Given the description of an element on the screen output the (x, y) to click on. 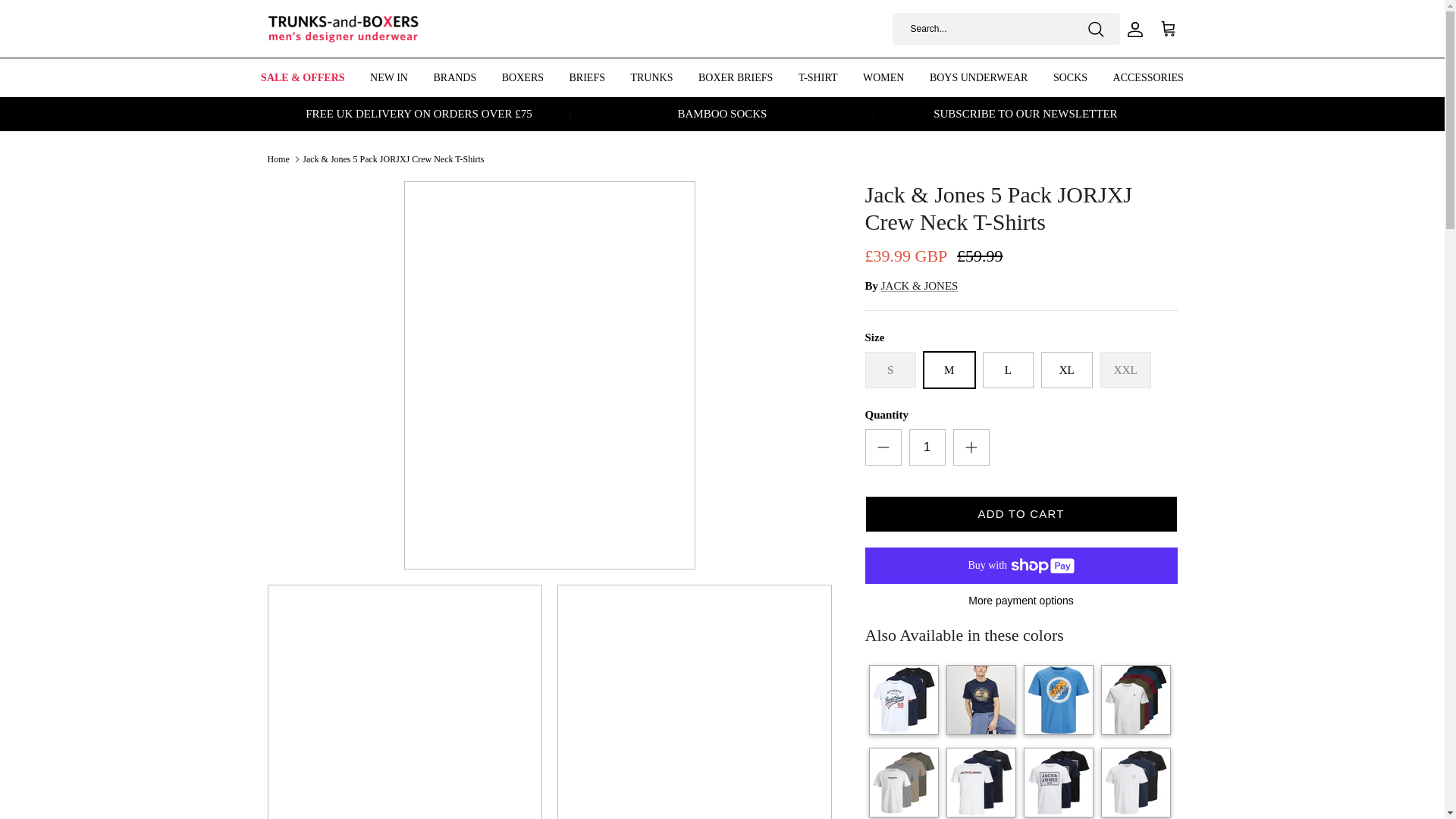
Shirt (981, 699)
Shirt (1058, 699)
Minus (882, 447)
Shirts (904, 782)
NEW IN (388, 77)
BRANDS (454, 77)
Plus (969, 447)
Account (1130, 27)
1 (926, 447)
 Assorted (1135, 699)
Trunks and Boxers (342, 28)
